Given the description of an element on the screen output the (x, y) to click on. 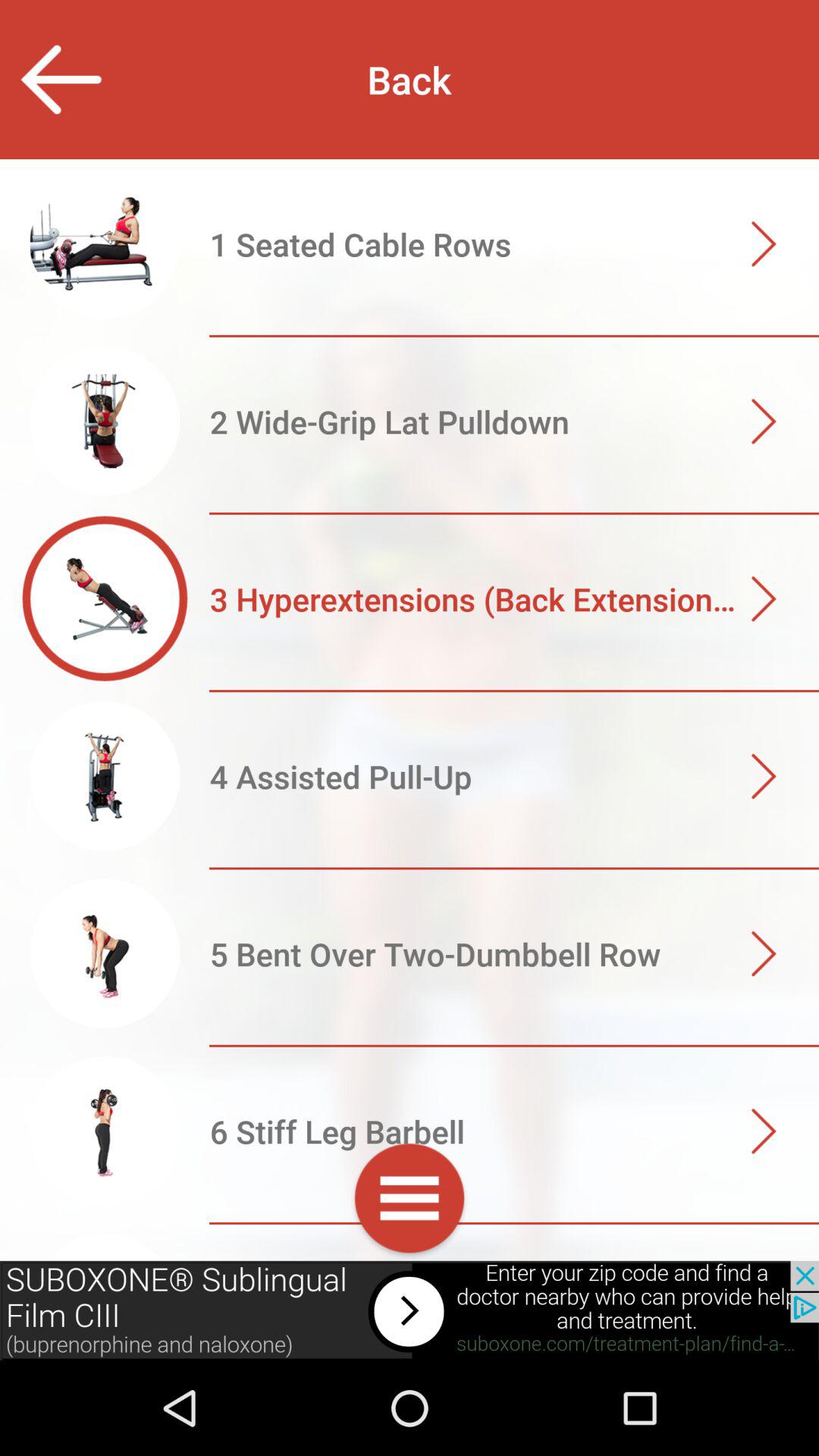
go back (59, 79)
